Given the description of an element on the screen output the (x, y) to click on. 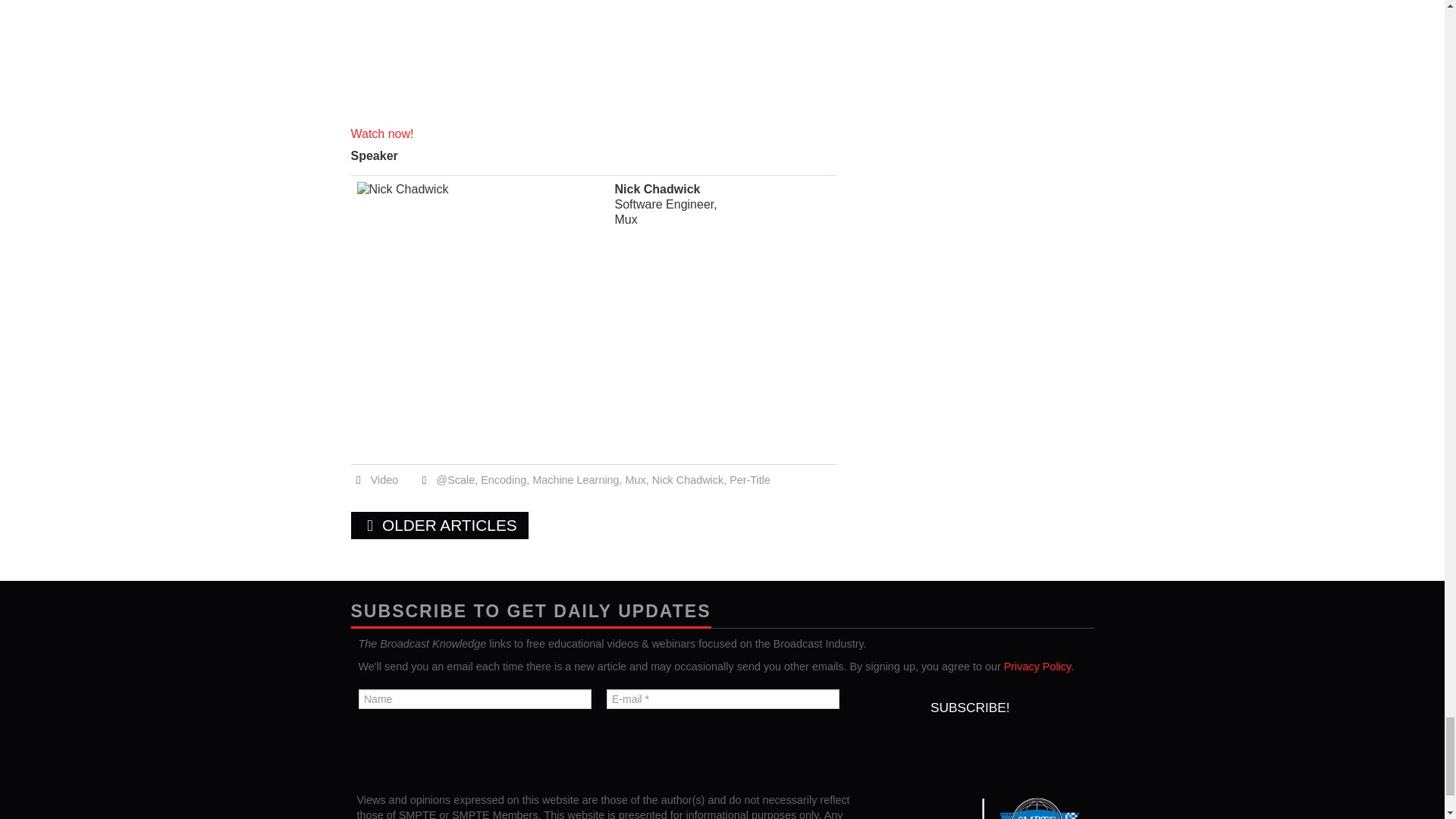
Subscribe! (969, 707)
fb:video Facebook Social Plugin (592, 58)
